Given the description of an element on the screen output the (x, y) to click on. 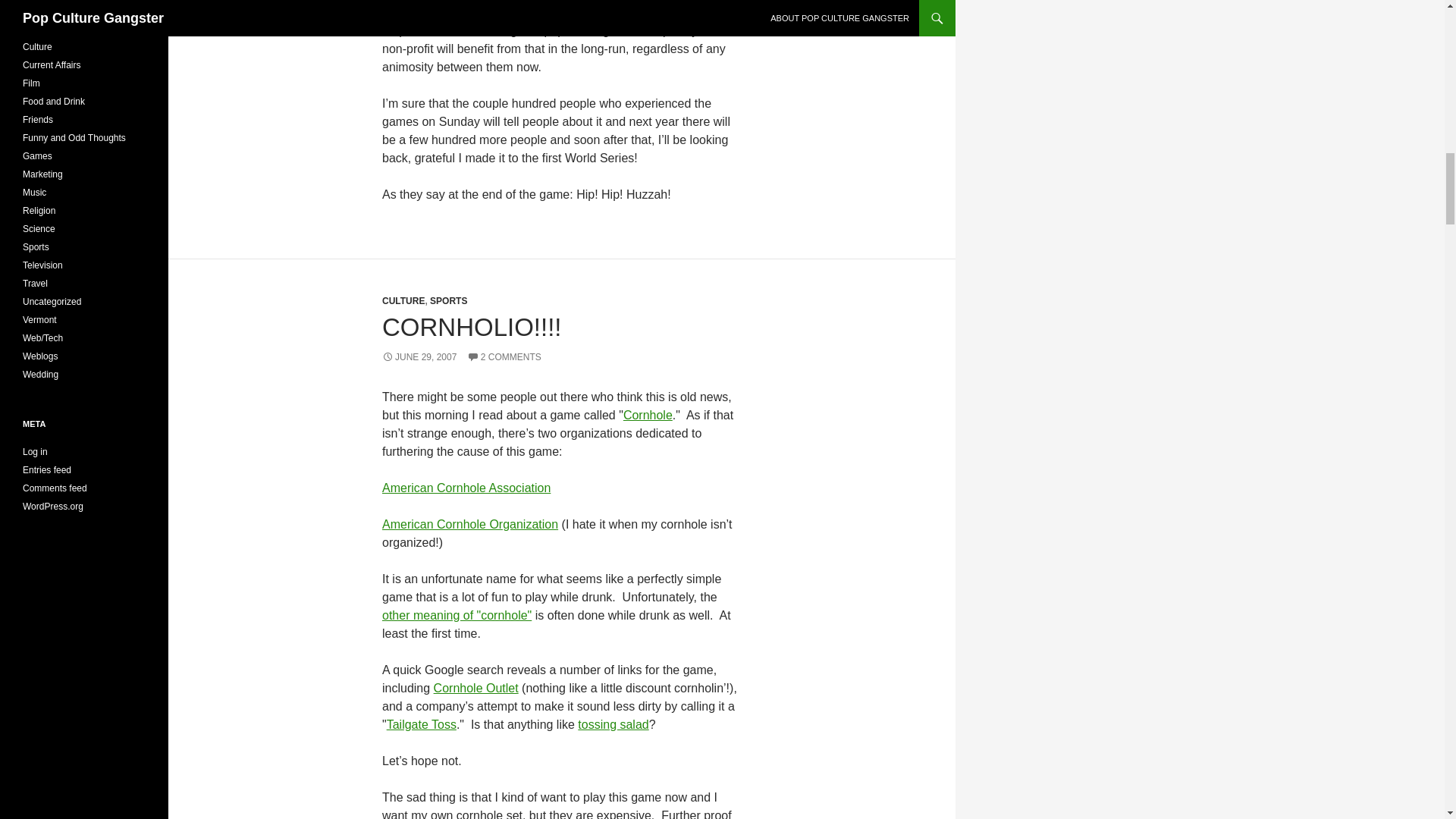
Cornhole (647, 414)
Cornhole Outlet (475, 687)
other meaning of "cornhole" (456, 615)
Tailgate Toss (422, 724)
CULTURE (403, 300)
tossing salad (612, 724)
American Cornhole Association (465, 487)
JUNE 29, 2007 (419, 357)
2 COMMENTS (504, 357)
SPORTS (448, 300)
CORNHOLIO!!!! (471, 326)
American Cornhole Organization (469, 523)
